Given the description of an element on the screen output the (x, y) to click on. 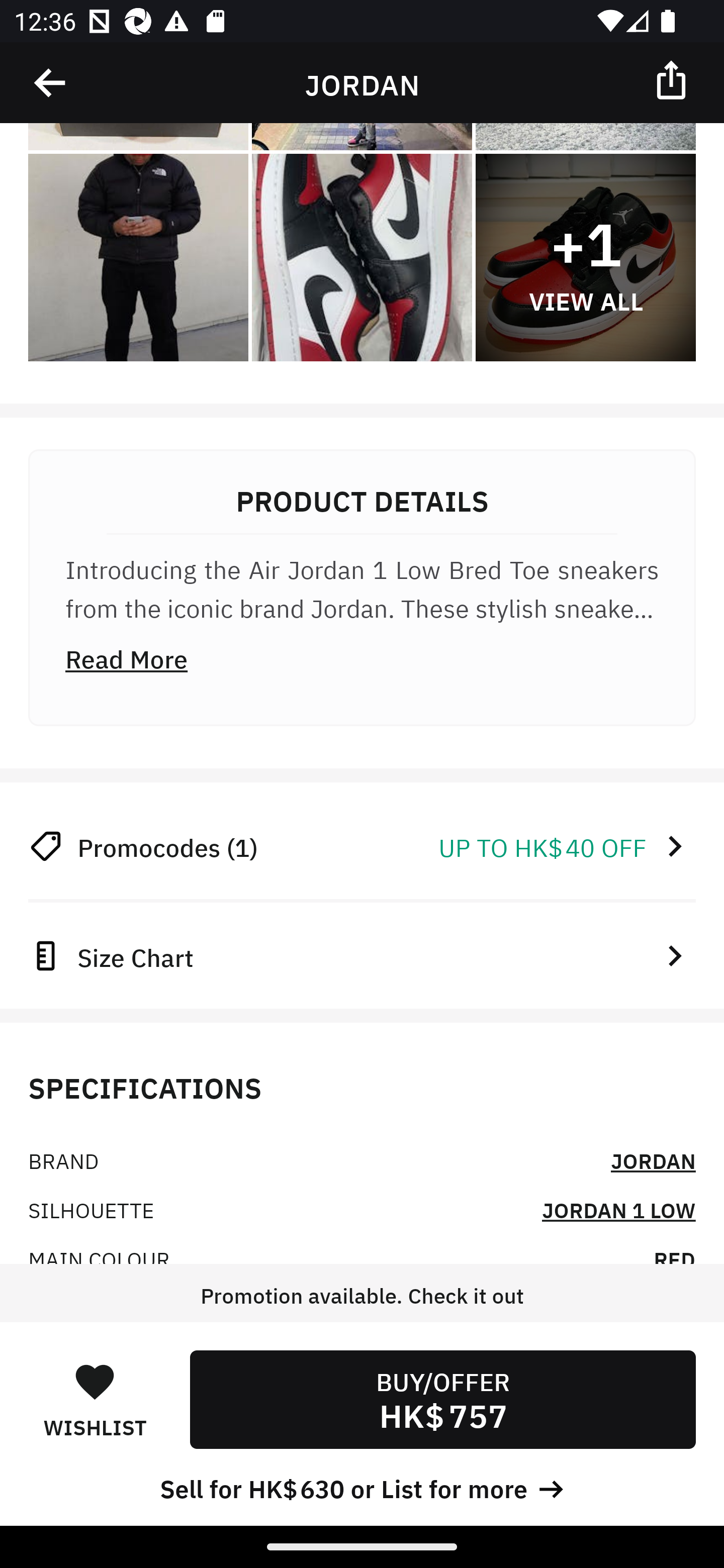
 (50, 83)
 (672, 79)
+1 VIEW ALL (585, 257)
Promocodes (1) UP TO HK$ 40 OFF  (361, 845)
Size Chart  (361, 955)
JORDAN (653, 1160)
JORDAN 1 LOW (618, 1208)
BUY/OFFER HK$ 757 (442, 1399)
󰋑 (94, 1380)
Sell for HK$ 630 or List for more (361, 1486)
